Given the description of an element on the screen output the (x, y) to click on. 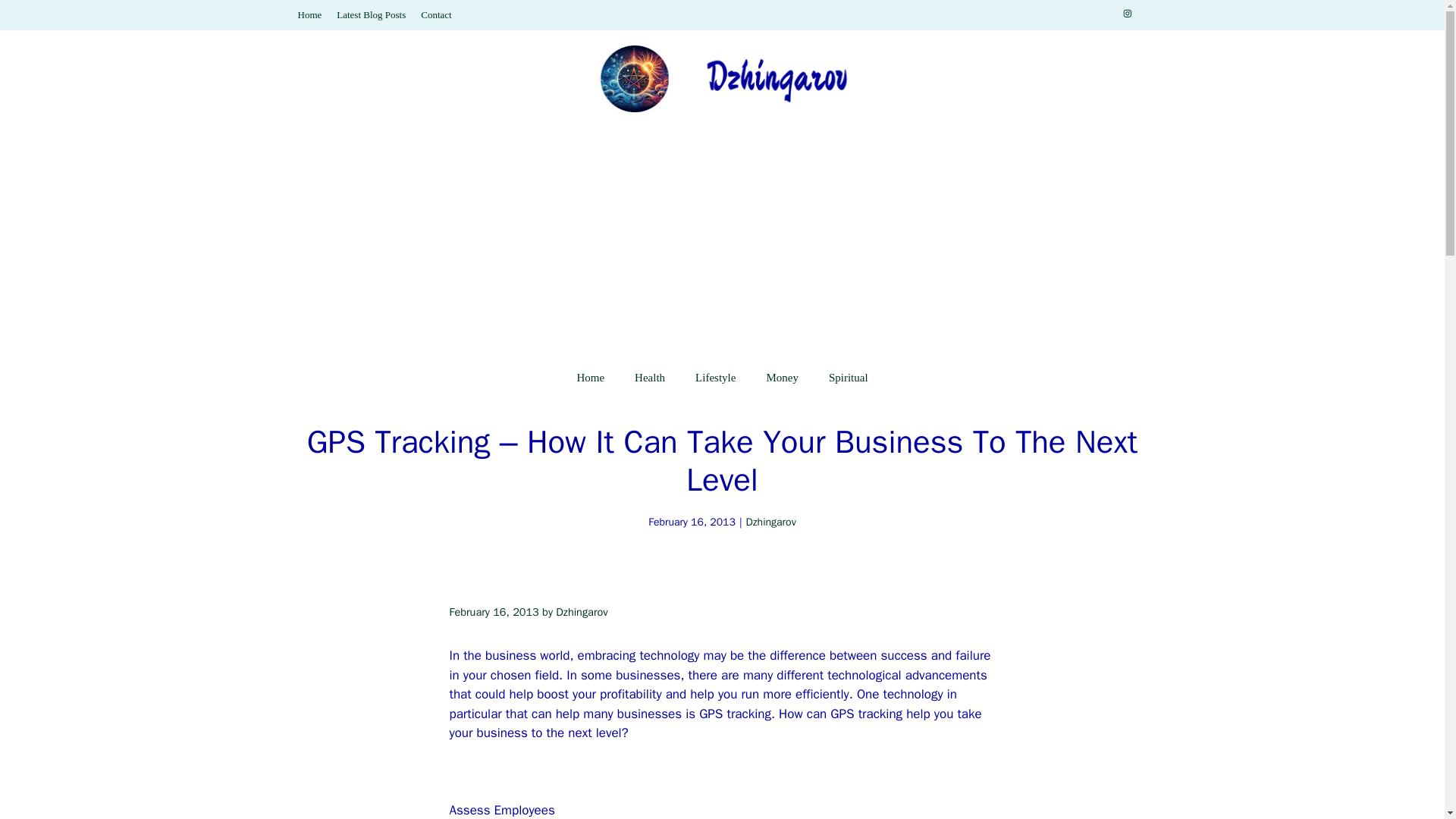
Health (649, 377)
Money (782, 377)
Spiritual (848, 377)
Home (309, 14)
Home (590, 377)
View all posts by Dzhingarov (581, 612)
Dzhingarov (770, 521)
Dzhingarov (581, 612)
Lifestyle (715, 377)
